Given the description of an element on the screen output the (x, y) to click on. 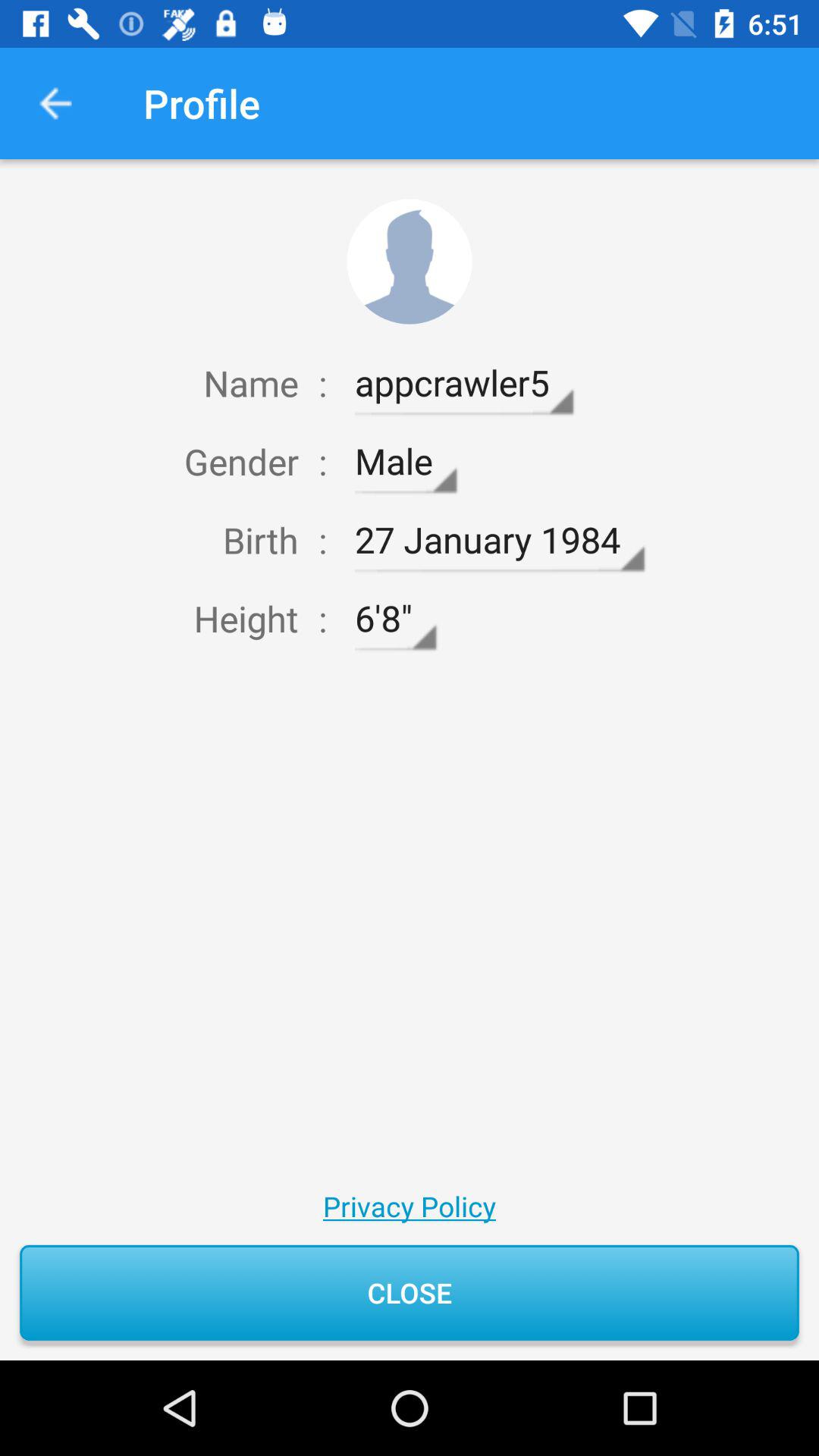
select appcrawler5 icon (463, 383)
